Given the description of an element on the screen output the (x, y) to click on. 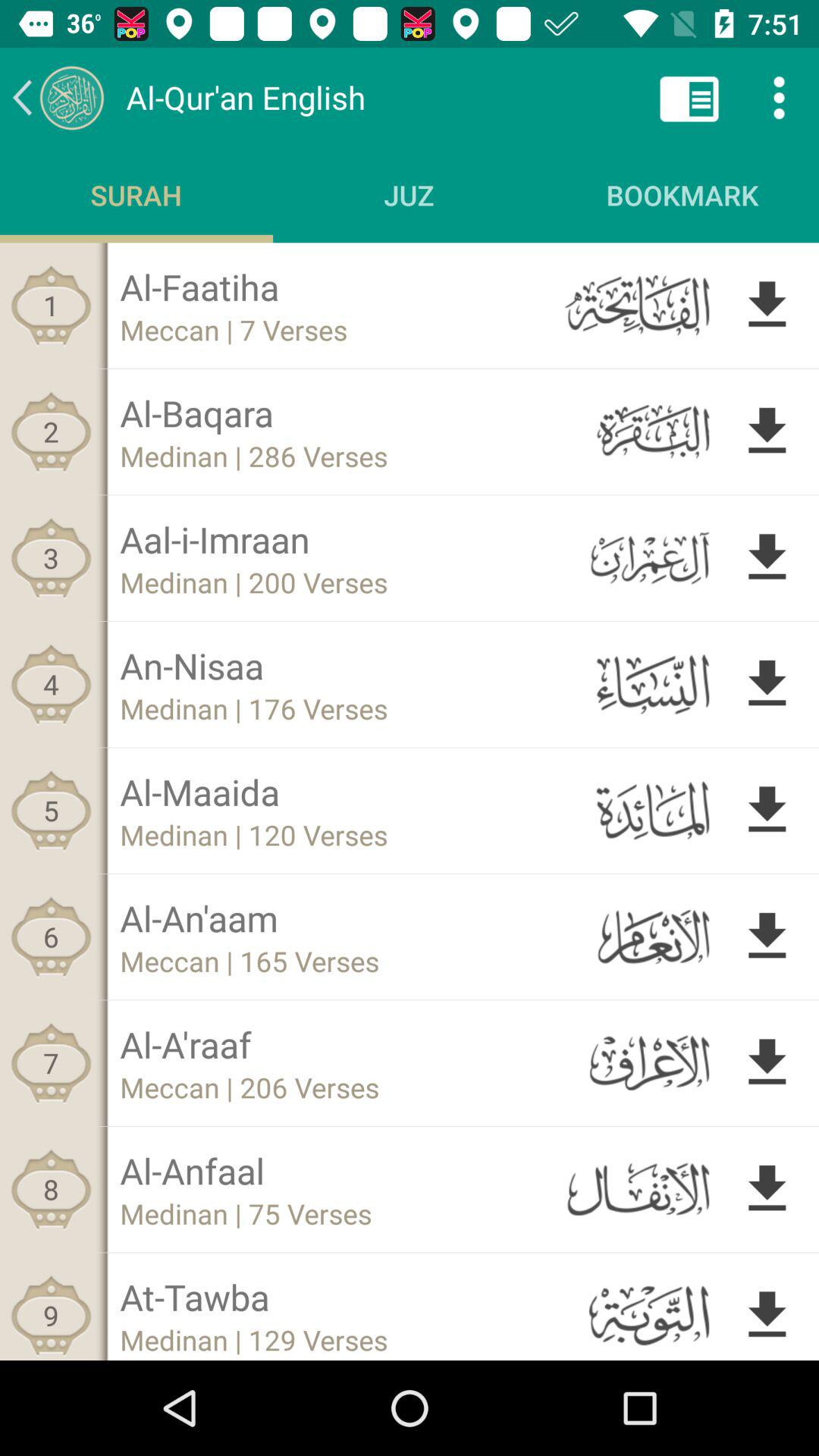
down load (767, 683)
